Given the description of an element on the screen output the (x, y) to click on. 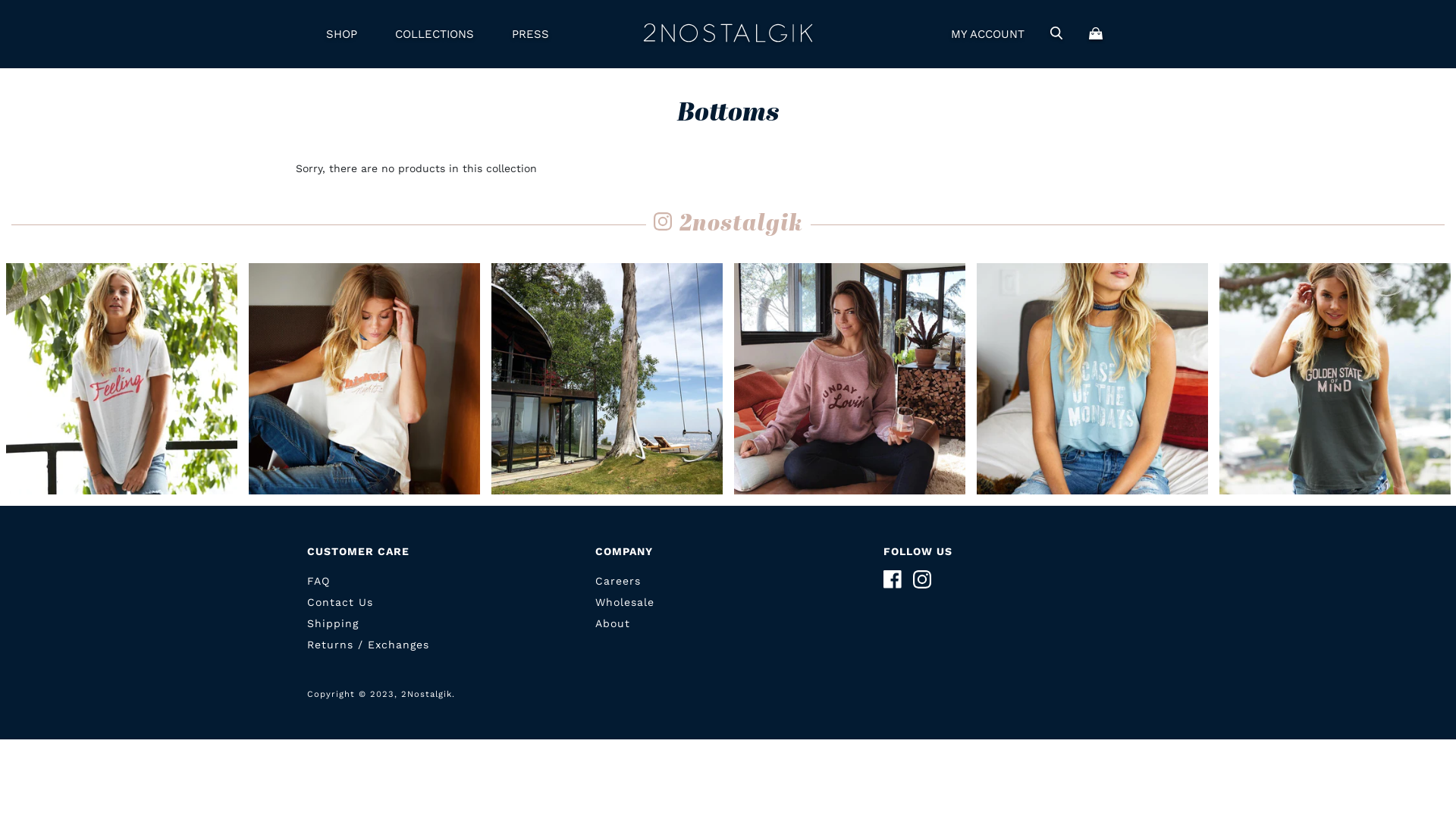
Contact Us Element type: text (340, 602)
SHOP Element type: text (341, 34)
PRESS Element type: text (530, 34)
Careers Element type: text (617, 580)
Wholesale Element type: text (624, 602)
FAQ Element type: text (318, 580)
SEARCH Element type: text (1056, 34)
COLLECTIONS Element type: text (434, 34)
Returns / Exchanges Element type: text (368, 644)
2nostalgik Element type: text (728, 225)
MY ACCOUNT Element type: text (987, 33)
Shipping Element type: text (332, 623)
Instagram Element type: text (922, 579)
About Element type: text (612, 623)
2Nostalgik Element type: text (426, 694)
2Nostalgik Element type: text (727, 34)
Facebook Element type: text (892, 579)
